Given the description of an element on the screen output the (x, y) to click on. 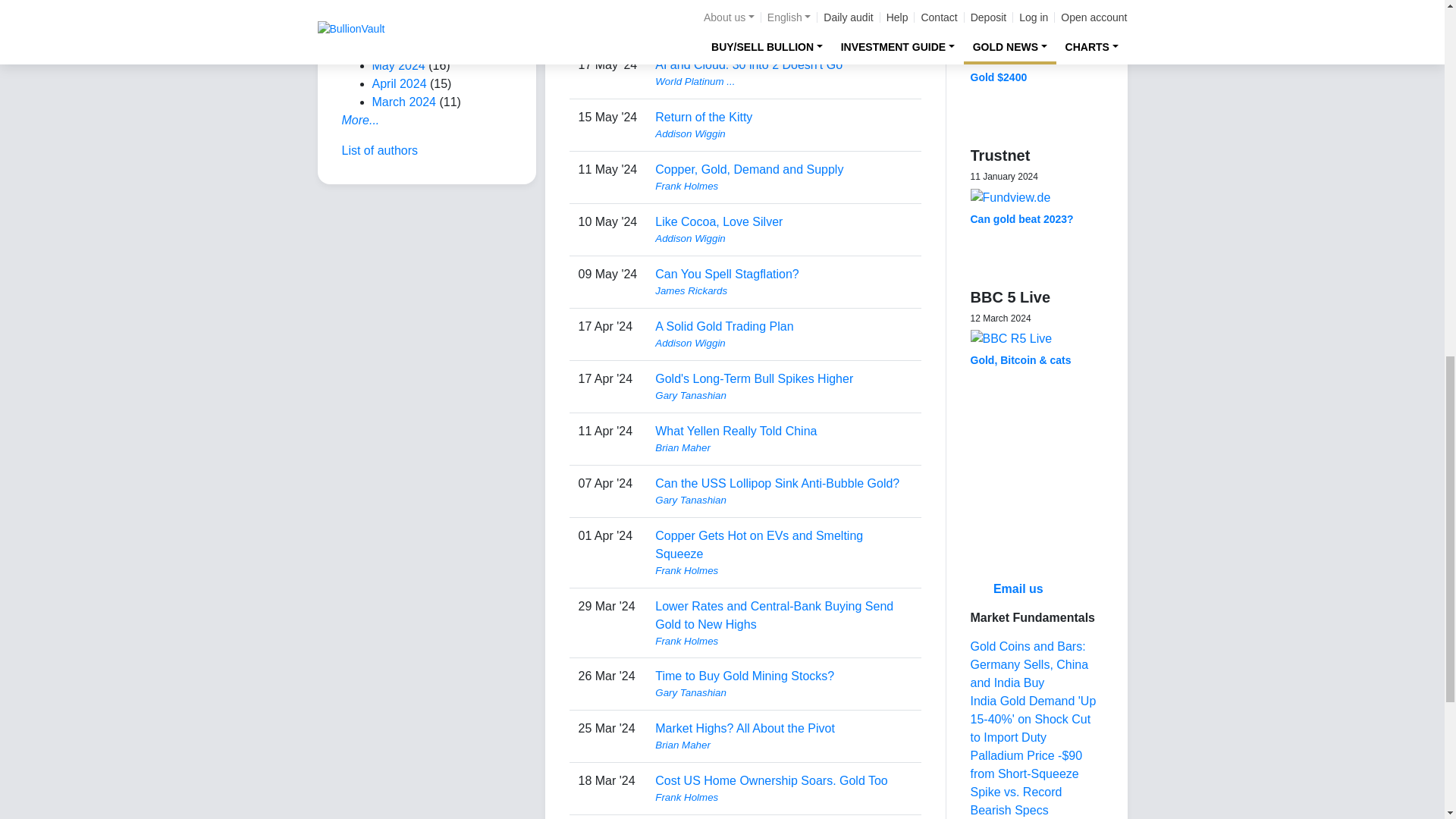
View user profile. (783, 29)
